Given the description of an element on the screen output the (x, y) to click on. 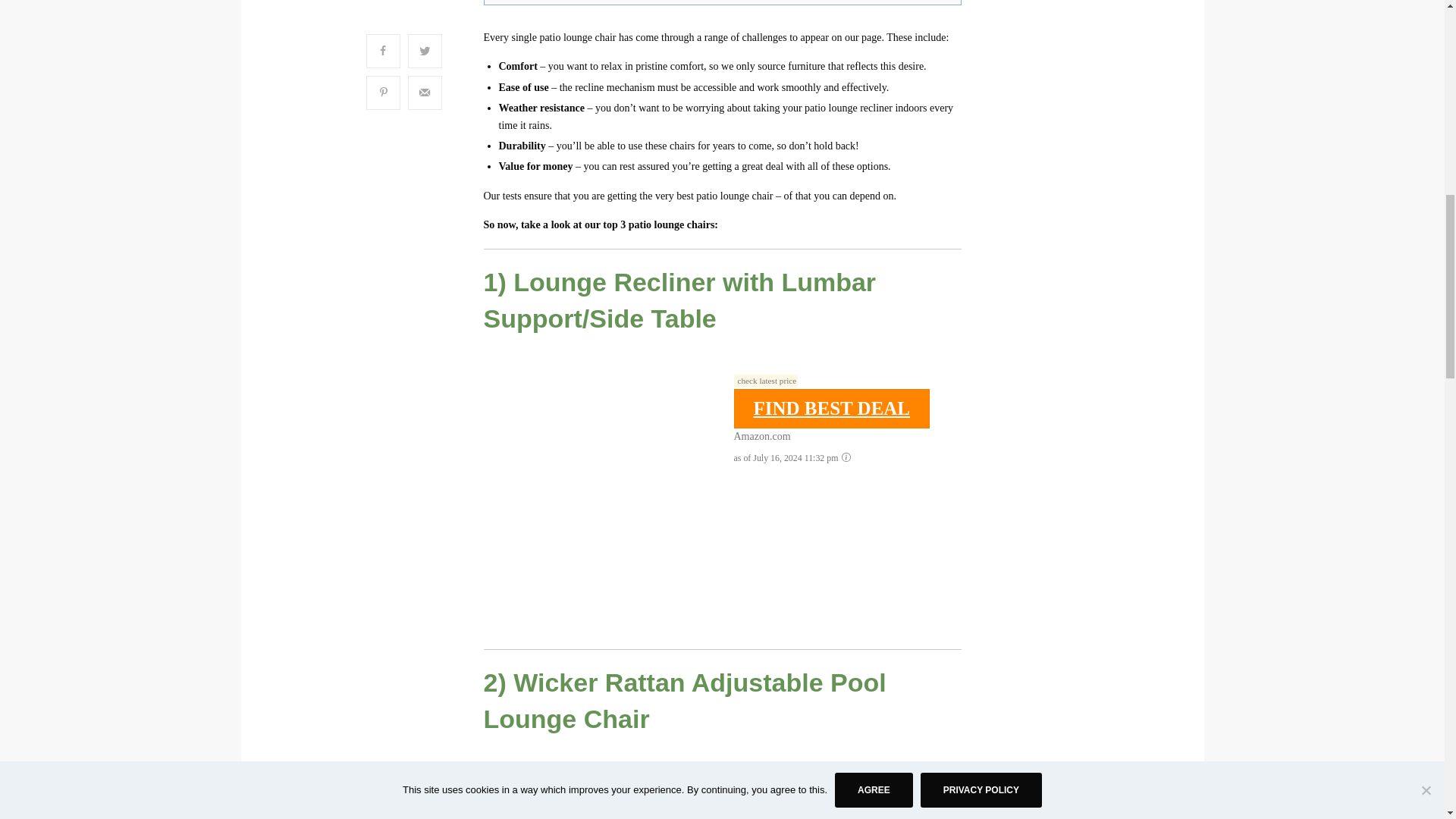
Last updated on July 16, 2024 11:32 pm (765, 380)
Last updated on July 16, 2024 11:32 pm (765, 779)
